Given the description of an element on the screen output the (x, y) to click on. 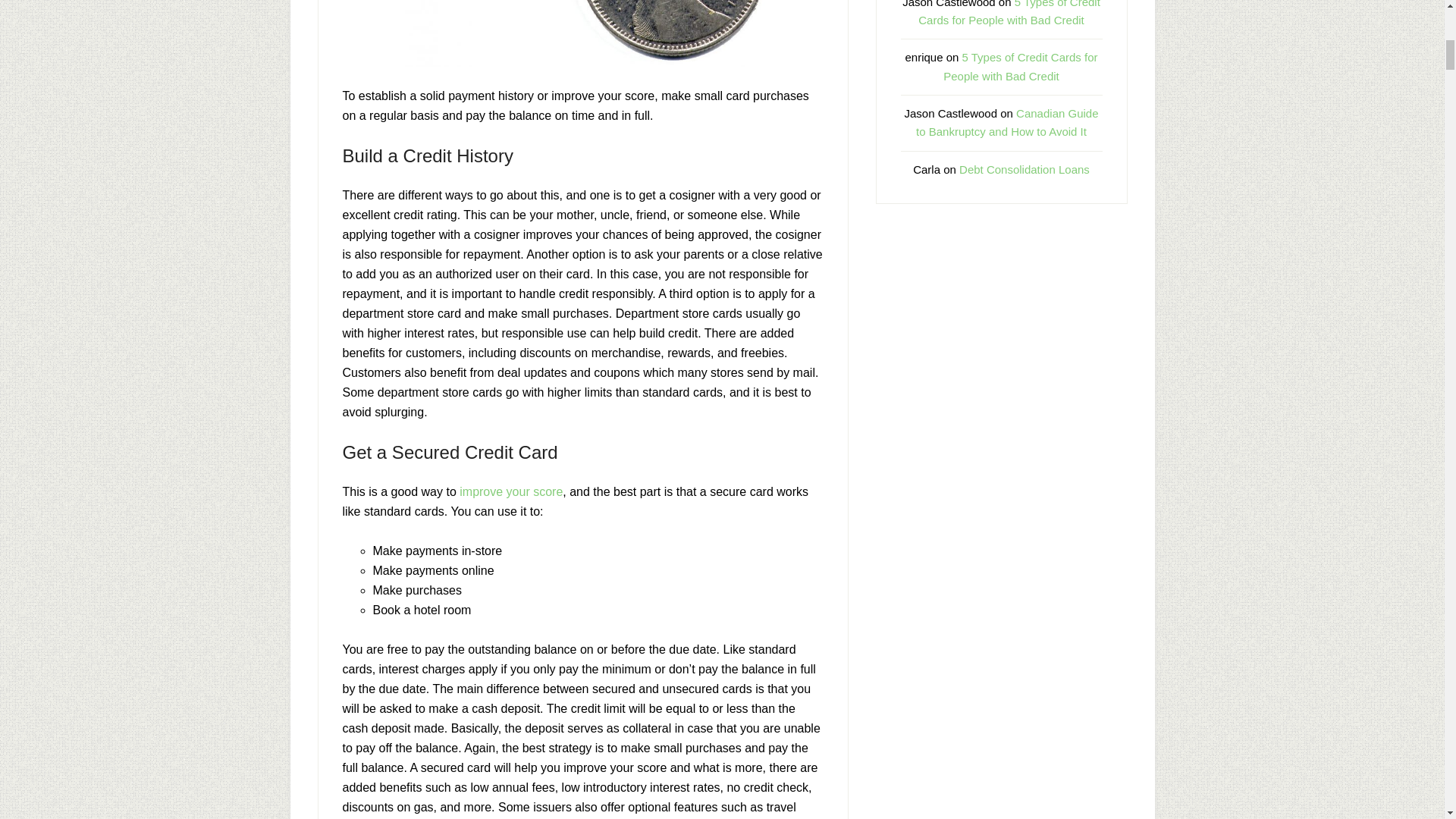
improve your score (511, 491)
